Given the description of an element on the screen output the (x, y) to click on. 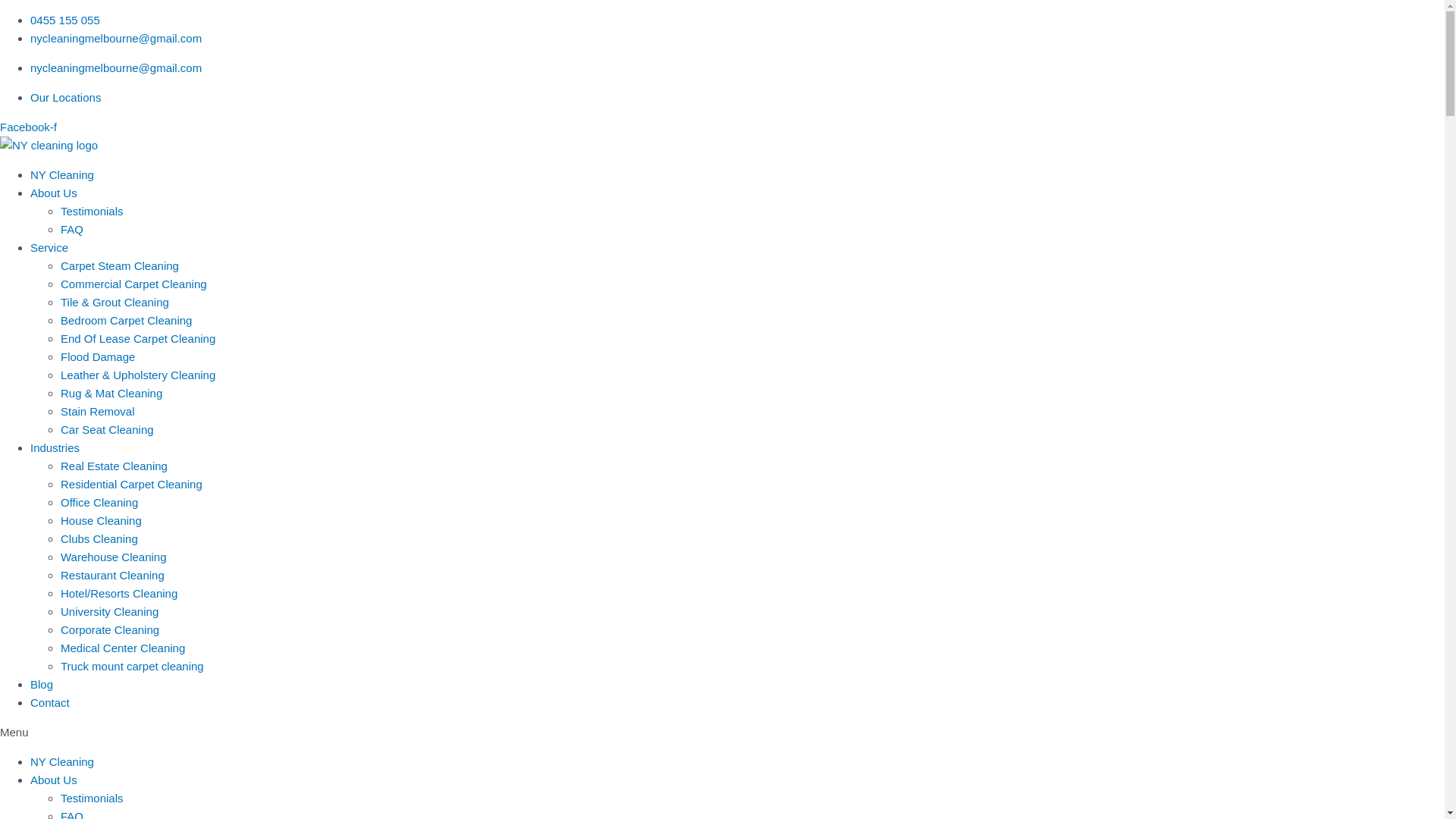
Commercial Carpet Cleaning Element type: text (133, 283)
Flood Damage Element type: text (97, 356)
Car Seat Cleaning Element type: text (106, 429)
End Of Lease Carpet Cleaning Element type: text (137, 338)
NY Cleaning Element type: text (62, 174)
University Cleaning Element type: text (109, 611)
Industries Element type: text (54, 447)
FAQ Element type: text (71, 228)
Residential Carpet Cleaning Element type: text (131, 483)
Medical Center Cleaning Element type: text (122, 647)
House Cleaning Element type: text (100, 520)
Blog Element type: text (41, 683)
Hotel/Resorts Cleaning Element type: text (118, 592)
NY Cleaning Element type: text (62, 761)
nycleaningmelbourne@gmail.com Element type: text (115, 67)
Bedroom Carpet Cleaning Element type: text (125, 319)
Office Cleaning Element type: text (99, 501)
Leather & Upholstery Cleaning Element type: text (137, 374)
Our Locations Element type: text (65, 97)
About Us Element type: text (53, 779)
Rug & Mat Cleaning Element type: text (111, 392)
Real Estate Cleaning Element type: text (113, 465)
Testimonials Element type: text (91, 210)
Truck mount carpet cleaning Element type: text (131, 665)
nycleaningmelbourne@gmail.com Element type: text (115, 37)
Facebook-f Element type: text (28, 126)
Restaurant Cleaning Element type: text (112, 574)
0455 155 055 Element type: text (65, 19)
Service Element type: text (49, 247)
Contact Element type: text (49, 702)
Carpet Steam Cleaning Element type: text (119, 265)
Warehouse Cleaning Element type: text (113, 556)
Corporate Cleaning Element type: text (109, 629)
Stain Removal Element type: text (97, 410)
About Us Element type: text (53, 192)
Tile & Grout Cleaning Element type: text (114, 301)
Testimonials Element type: text (91, 797)
Clubs Cleaning Element type: text (99, 538)
